Given the description of an element on the screen output the (x, y) to click on. 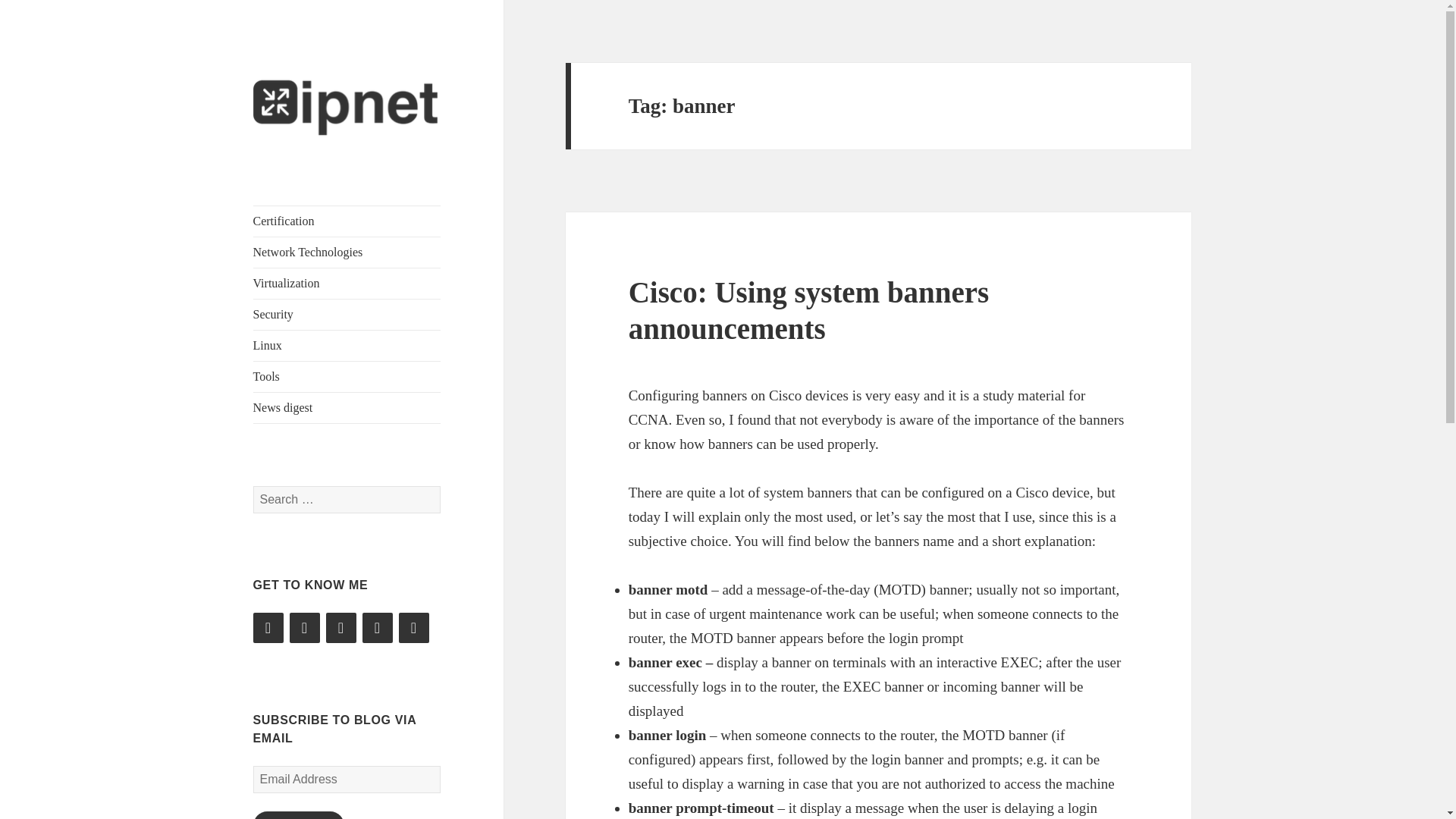
Tools (347, 376)
Security (347, 314)
IPNET (283, 166)
News digest (347, 408)
Cisco: Using system banners announcements (809, 310)
Network Technologies (347, 252)
Virtualization (347, 283)
SUBSCRIBE (299, 815)
Twitter (268, 627)
Linux (347, 345)
Reddit (377, 627)
LinkedIn (304, 627)
